Given the description of an element on the screen output the (x, y) to click on. 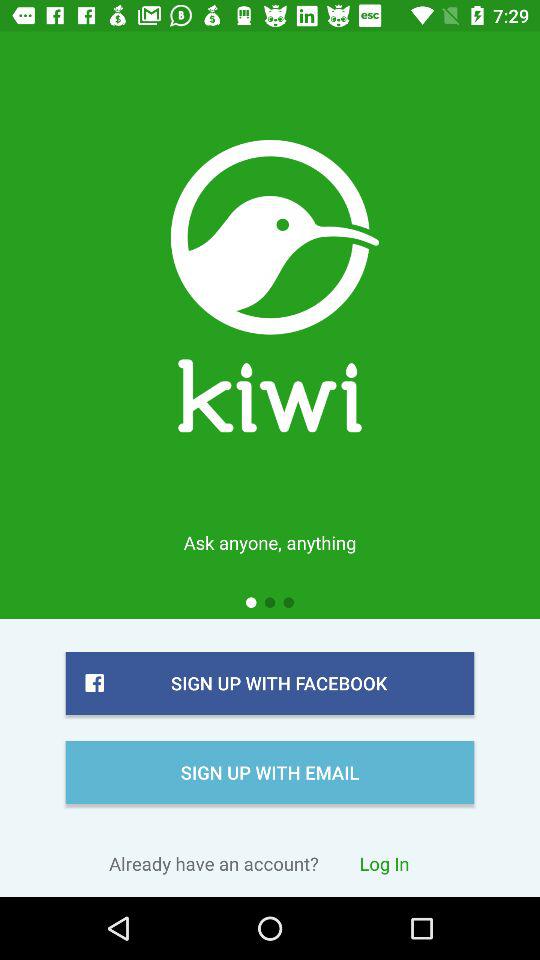
open icon next to already have an icon (384, 863)
